Given the description of an element on the screen output the (x, y) to click on. 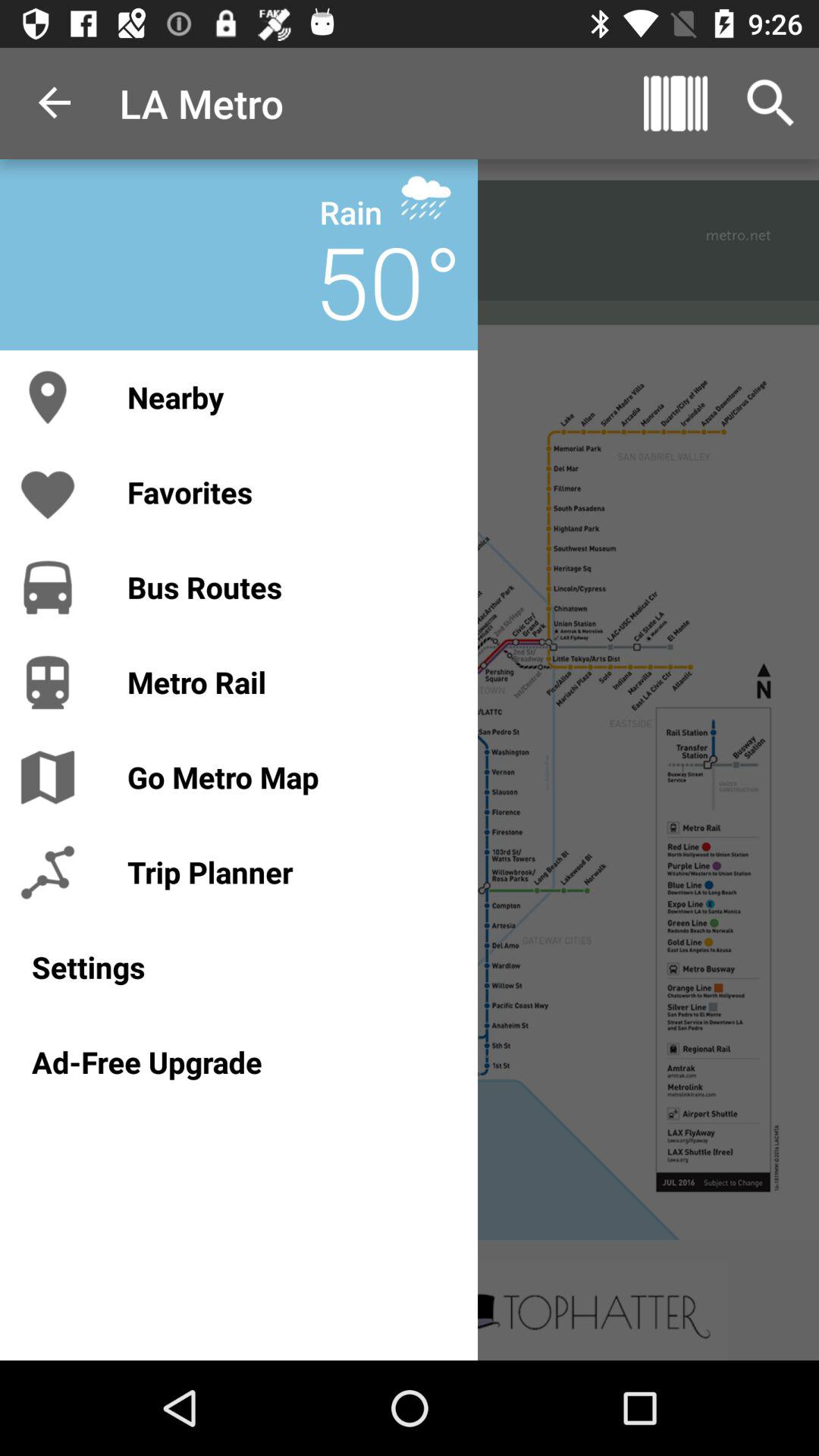
swipe until settings (238, 966)
